Given the description of an element on the screen output the (x, y) to click on. 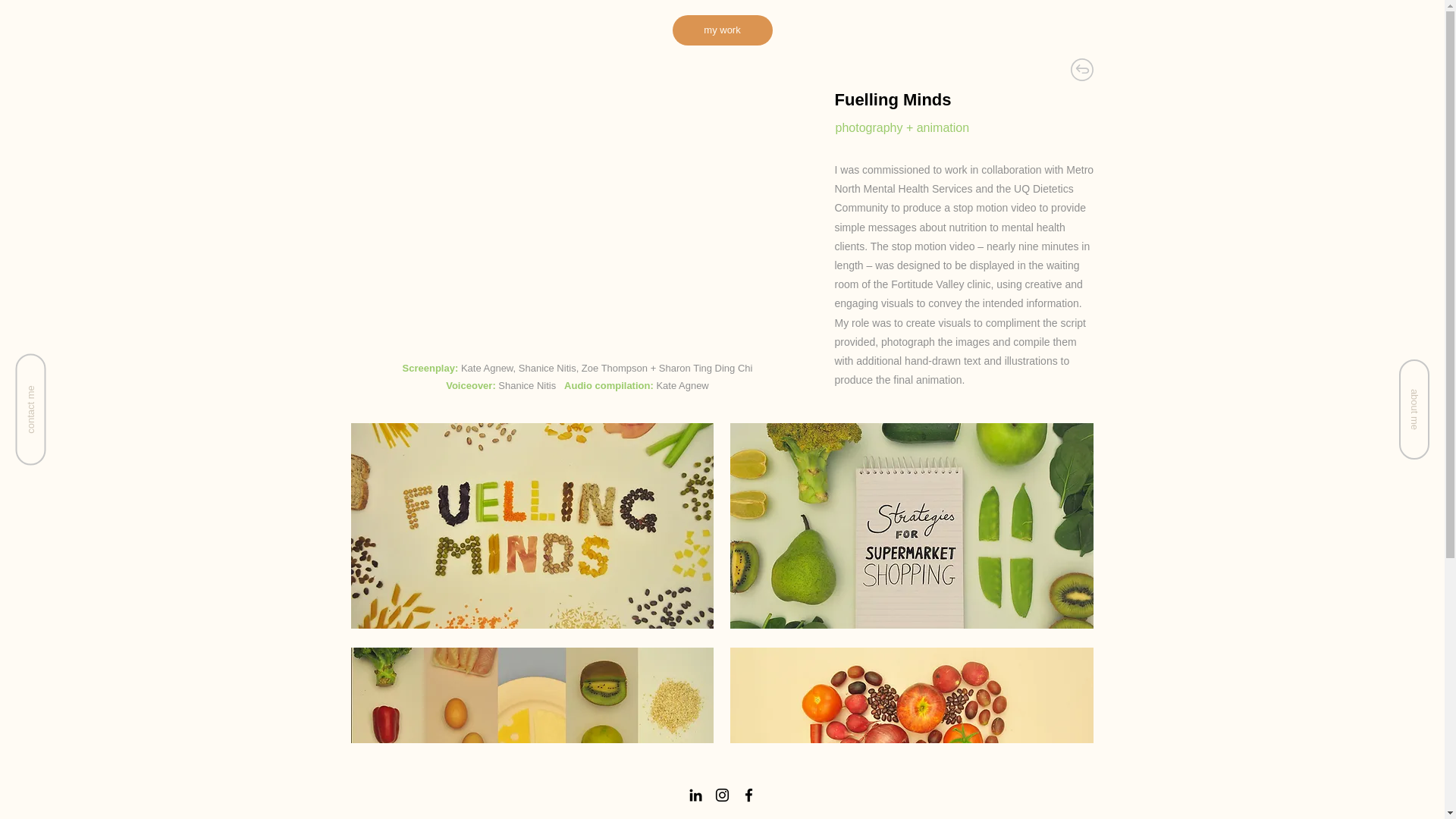
External YouTube (576, 217)
my work (721, 30)
contact me (70, 368)
